Given the description of an element on the screen output the (x, y) to click on. 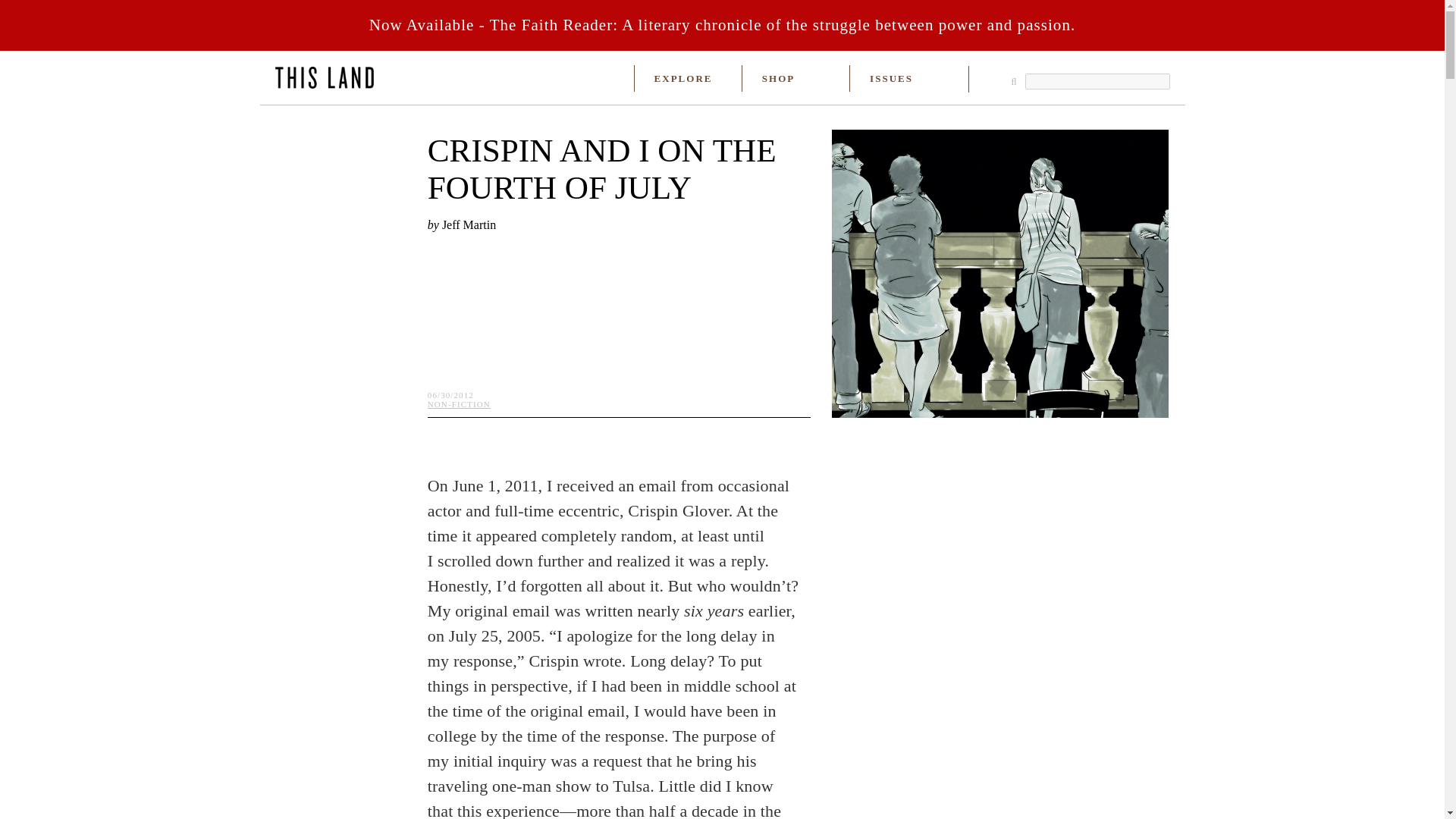
EXPLORE (683, 78)
ISSUES (890, 78)
SHOP (777, 78)
NON-FICTION (459, 403)
